Given the description of an element on the screen output the (x, y) to click on. 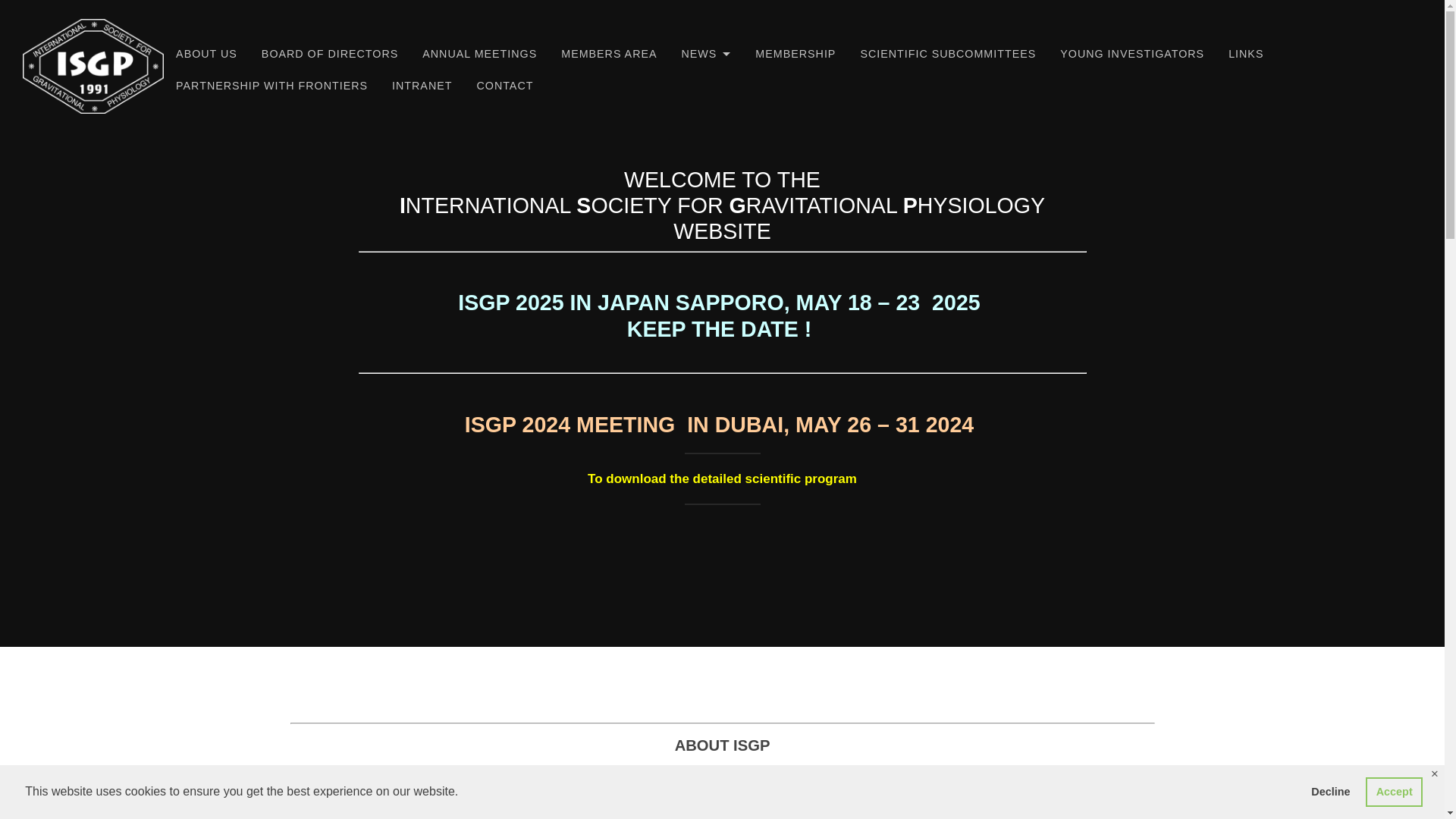
ABOUT US (205, 53)
ANNUAL MEETINGS (479, 53)
Accept (1393, 791)
INTRANET (422, 85)
INTERNATIONAL SOCIETY FOR GRAVITATIONAL PHYSIOLOGY (364, 132)
MEMBERS AREA (608, 53)
NEWS (706, 53)
PARTNERSHIP WITH FRONTIERS (271, 85)
KEEP THE DATE !  (721, 328)
To download the detailed scientific program (722, 478)
